Given the description of an element on the screen output the (x, y) to click on. 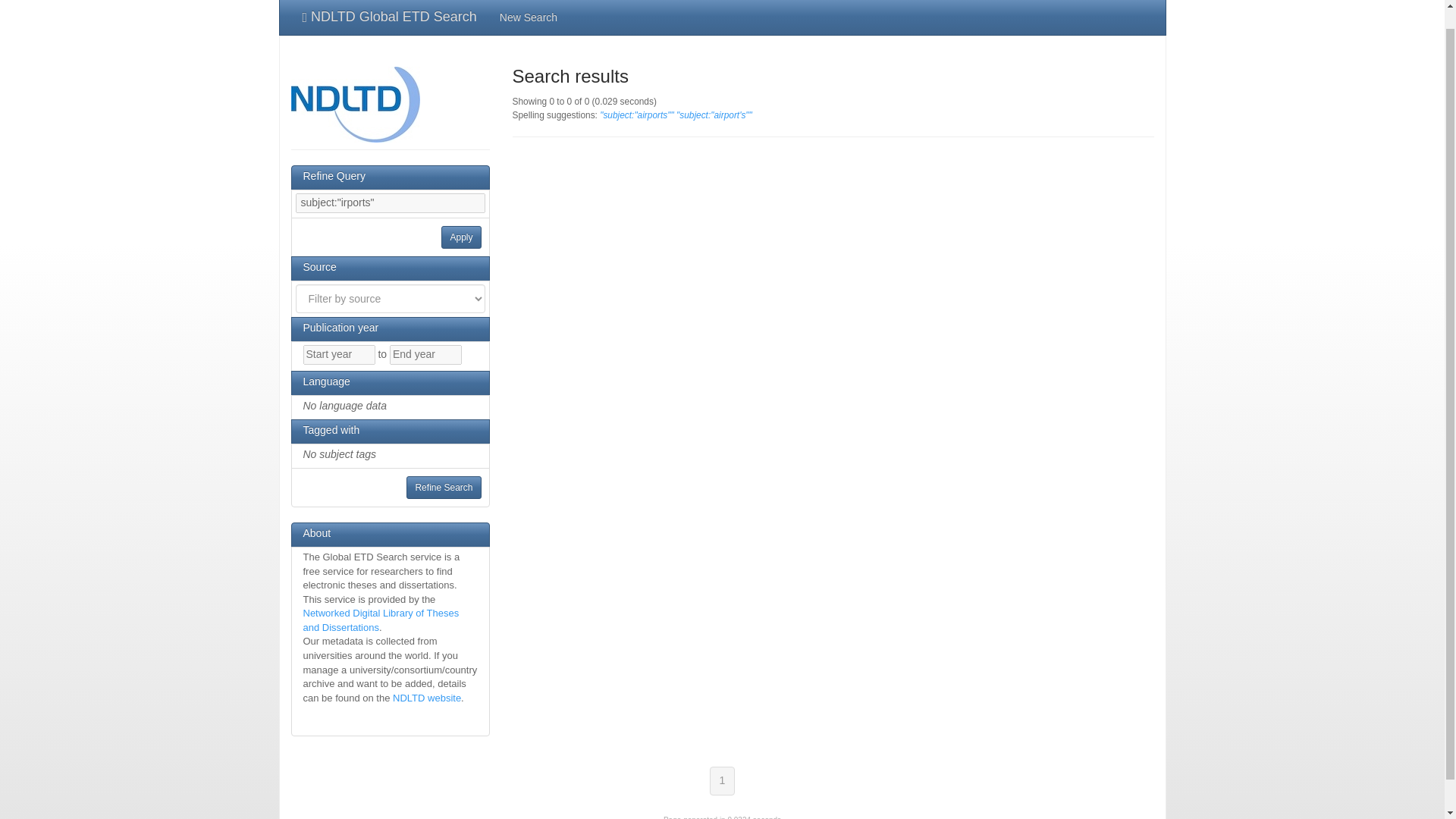
NDLTD Global ETD Search (389, 17)
New Search (528, 17)
Apply (460, 237)
1 (722, 780)
"subject:"airport's"" (714, 114)
Refine Search (443, 486)
"subject:"airports"" (636, 114)
subject:"irports" (389, 202)
Refine Search (443, 486)
Apply (460, 237)
Networked Digital Library of Theses and Dissertations (381, 620)
NDLTD website (427, 697)
